Given the description of an element on the screen output the (x, y) to click on. 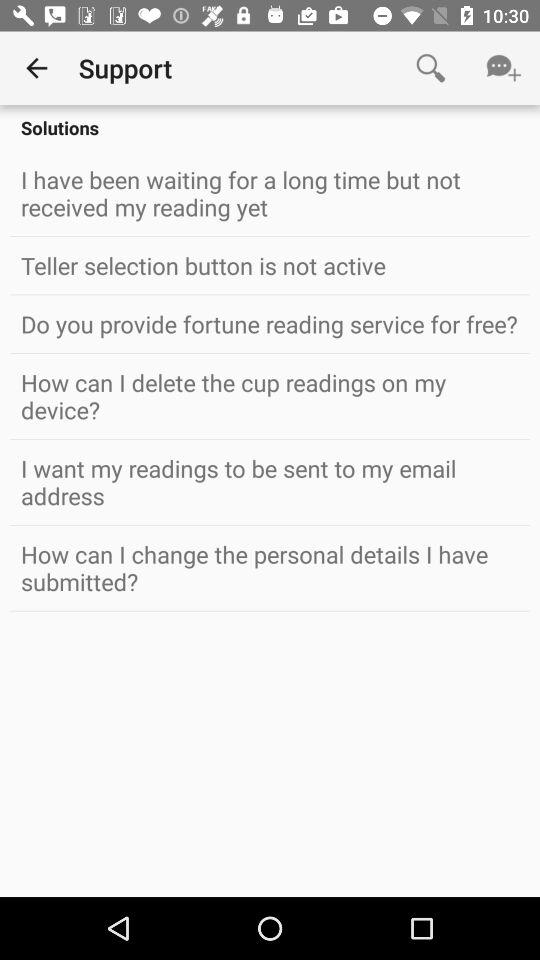
turn on do you provide icon (269, 324)
